Given the description of an element on the screen output the (x, y) to click on. 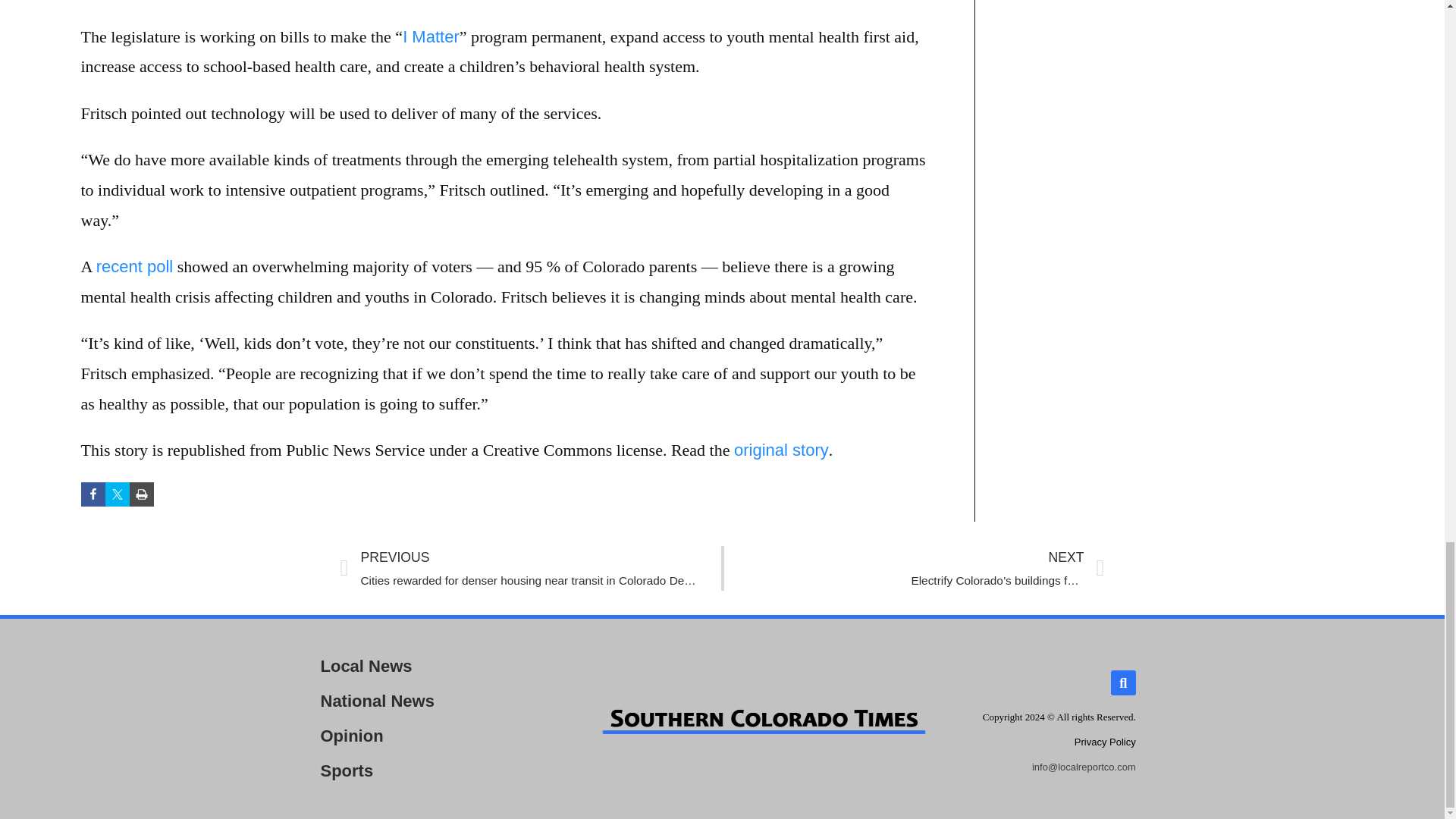
Privacy Policy (1104, 741)
I Matter (431, 36)
National News (438, 701)
original story (780, 449)
Sports (438, 770)
Print this Page (140, 494)
Share on Facebook (92, 494)
Share on Twitter (116, 494)
Opinion (438, 736)
recent poll (134, 266)
Local News (438, 666)
